Given the description of an element on the screen output the (x, y) to click on. 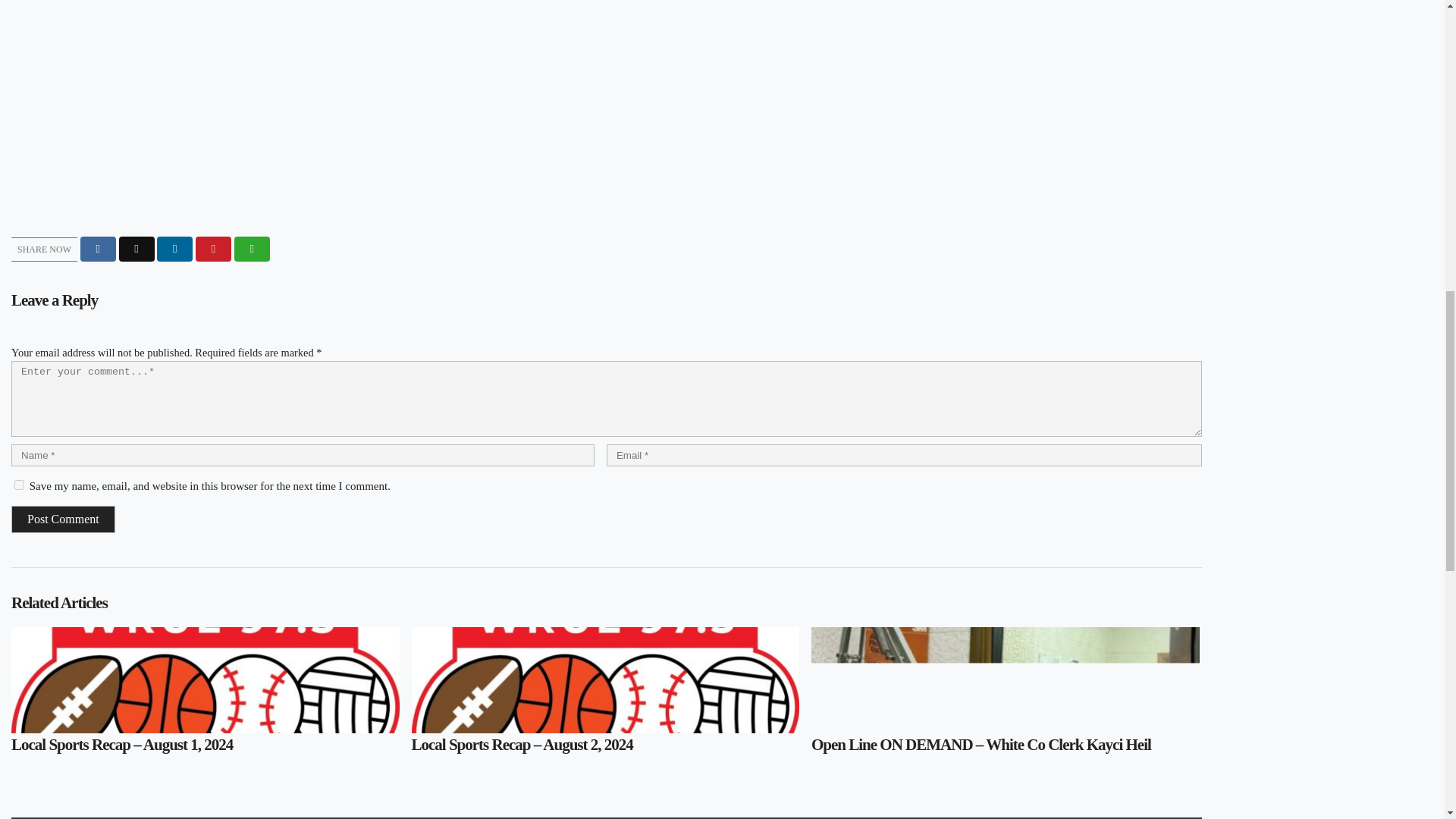
yes (19, 484)
Post Comment (63, 519)
